Given the description of an element on the screen output the (x, y) to click on. 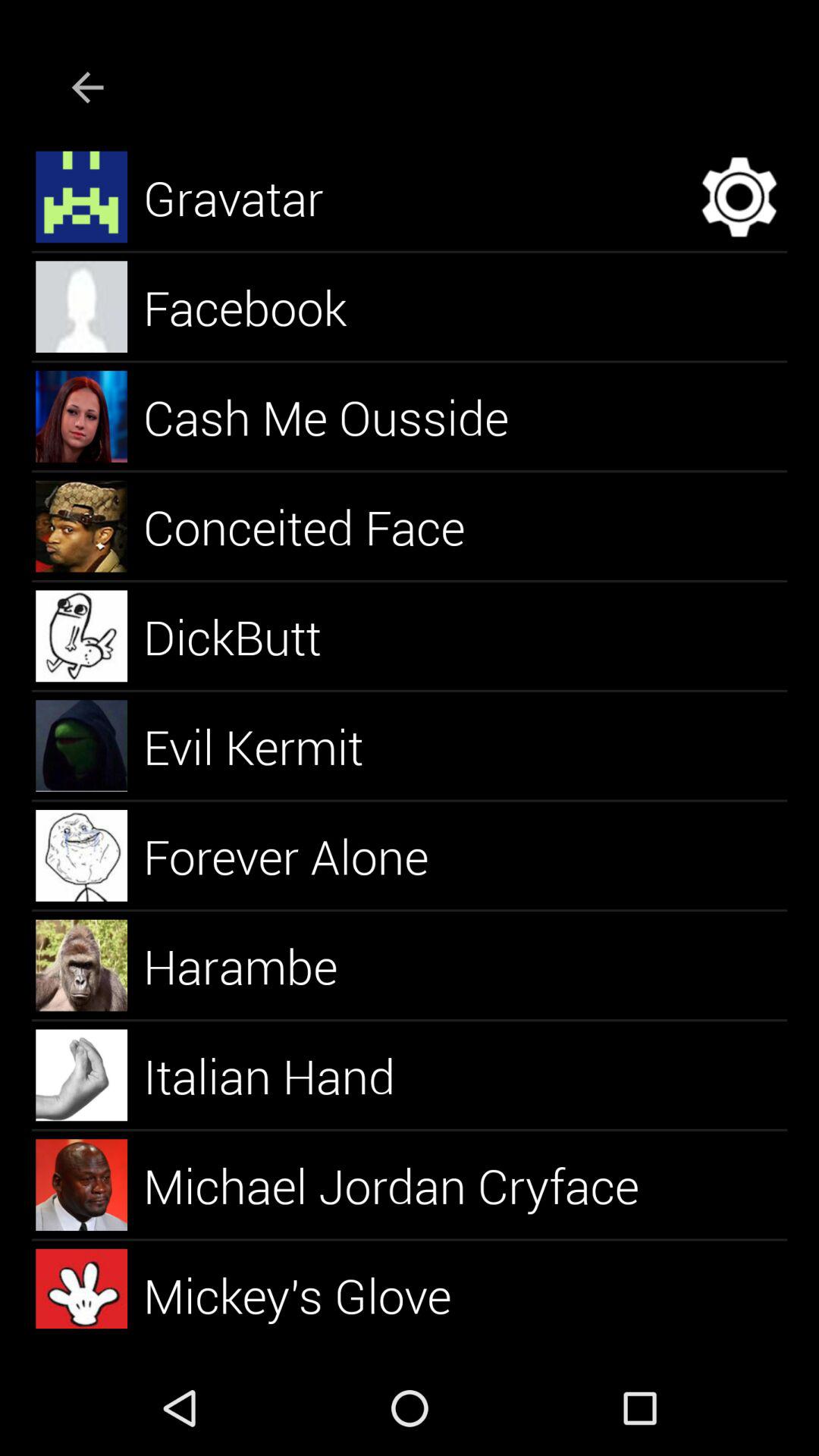
select the harambe item (258, 964)
